Given the description of an element on the screen output the (x, y) to click on. 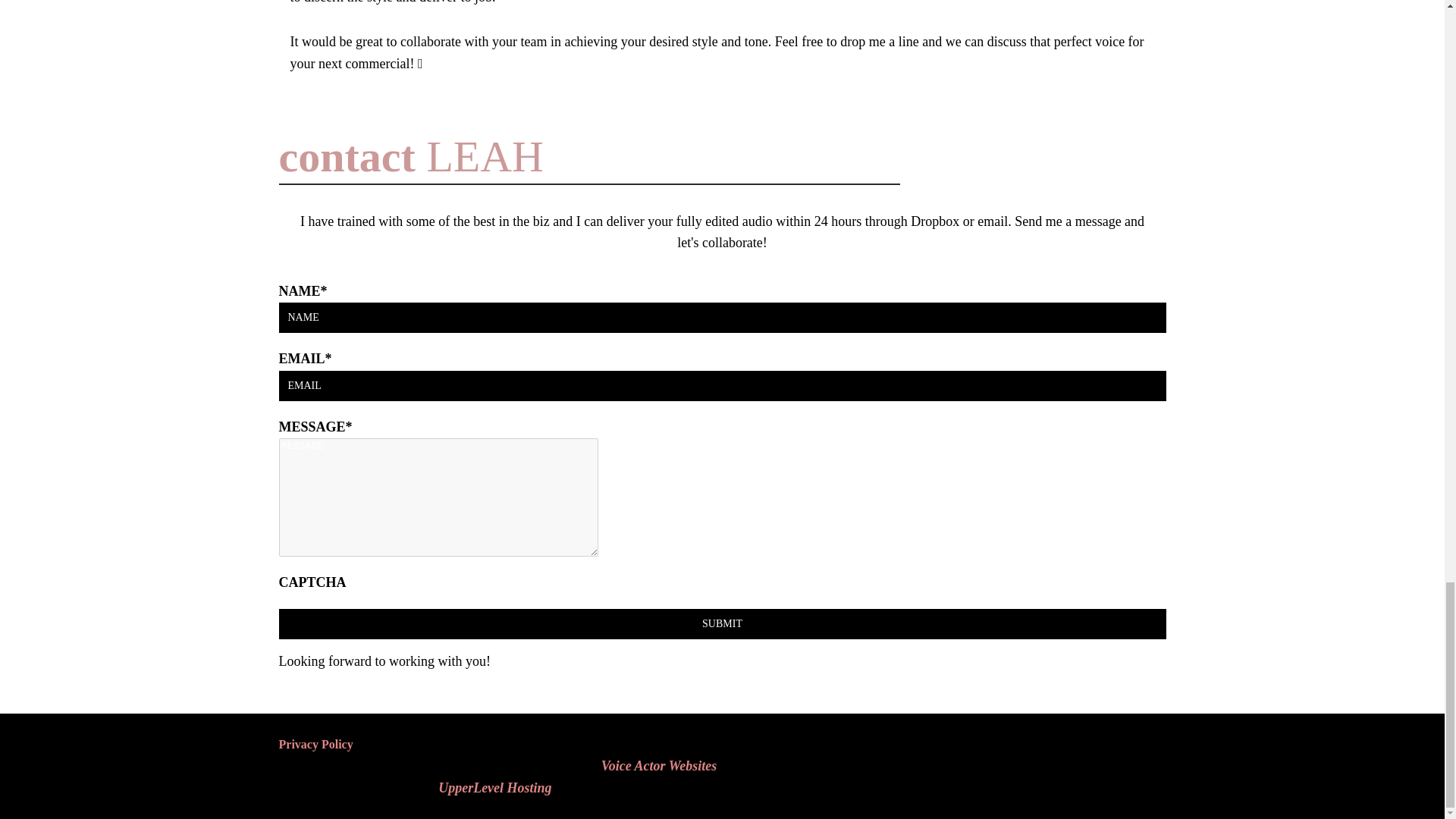
SUBMIT (722, 624)
